Given the description of an element on the screen output the (x, y) to click on. 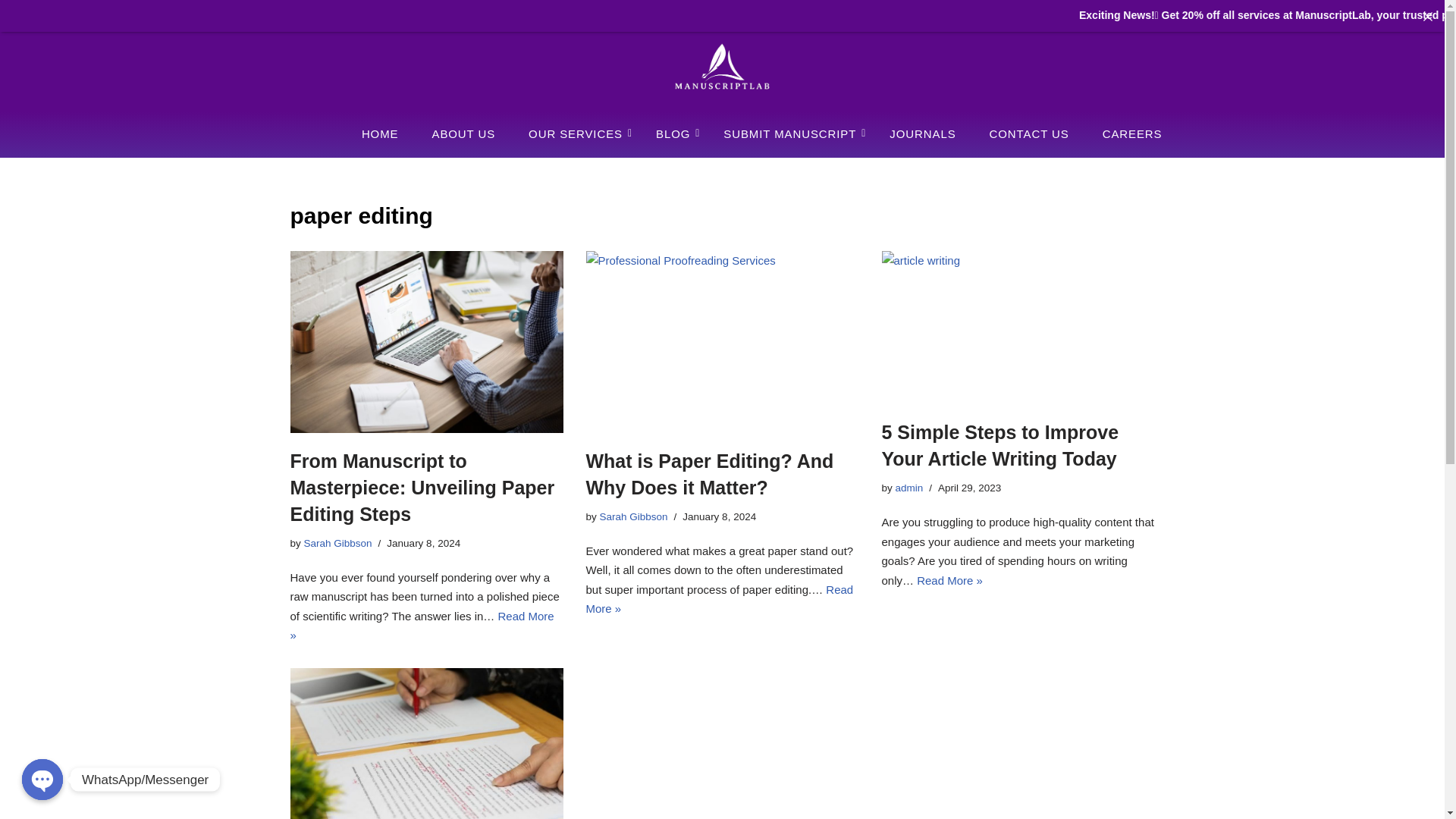
What is Paper Editing? And Why Does it Matter? (722, 341)
HOME (379, 133)
Posts by admin (909, 487)
Skip to content (11, 63)
OUR SERVICES (575, 133)
ABOUT US (462, 133)
JOURNALS (921, 133)
5 Simple Steps to Improve Your Article Writing Today (1017, 327)
BLOG (672, 133)
SUBMIT MANUSCRIPT (789, 133)
CONTACT US (1028, 133)
Close (1427, 15)
